Given the description of an element on the screen output the (x, y) to click on. 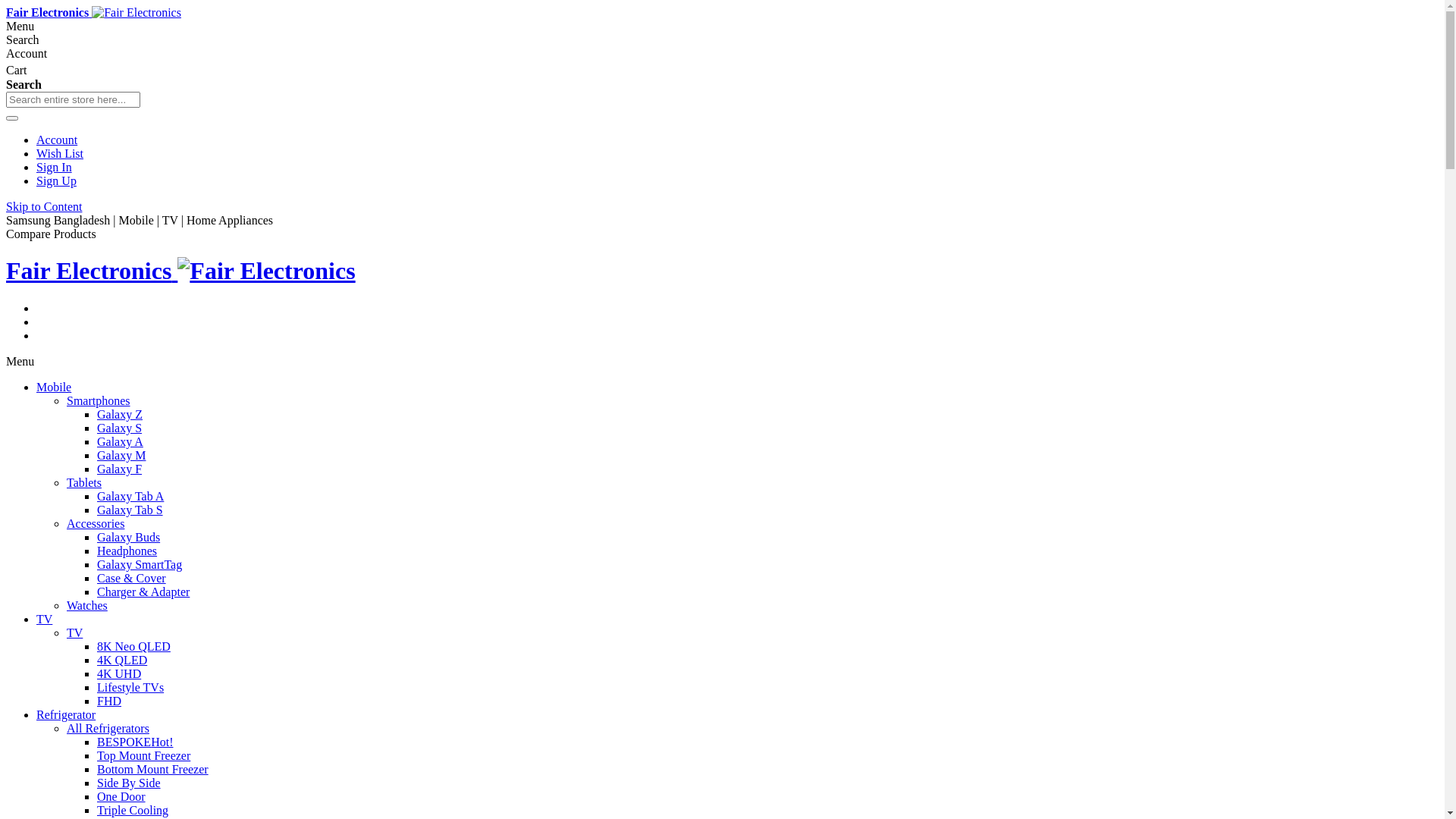
Galaxy Z Element type: text (119, 413)
Mobile Element type: text (53, 386)
4K UHD Element type: text (119, 673)
Wish List Element type: text (59, 153)
Watches Element type: text (86, 605)
Case & Cover Element type: text (131, 577)
Top Mount Freezer Element type: text (143, 755)
Refrigerator Element type: text (65, 714)
Accessories Element type: text (95, 523)
Charger & Adapter Element type: text (143, 591)
All Refrigerators Element type: text (107, 727)
TV Element type: text (74, 632)
Sign Up Element type: text (56, 180)
Smartphones Element type: text (98, 400)
Galaxy SmartTag Element type: text (139, 564)
Compare Products Element type: text (51, 233)
Triple Cooling Element type: text (132, 809)
Skip to Content Element type: text (43, 206)
Galaxy Tab S Element type: text (130, 509)
Galaxy Tab A Element type: text (130, 495)
Galaxy Buds Element type: text (128, 536)
Account Element type: text (56, 139)
Side By Side Element type: text (128, 782)
Sign In Element type: text (54, 166)
8K Neo QLED Element type: text (133, 646)
4K QLED Element type: text (122, 659)
Lifestyle TVs Element type: text (130, 686)
BESPOKEHot! Element type: text (134, 741)
Galaxy A Element type: text (120, 441)
Galaxy F Element type: text (119, 468)
Fair Electronics Element type: text (93, 12)
FHD Element type: text (109, 700)
TV Element type: text (44, 618)
Galaxy S Element type: text (119, 427)
Fair Electronics Element type: text (180, 270)
Headphones Element type: text (126, 550)
Search Element type: hover (12, 118)
One Door Element type: text (121, 796)
Galaxy M Element type: text (121, 454)
Tablets Element type: text (83, 482)
Bottom Mount Freezer Element type: text (152, 768)
